Given the description of an element on the screen output the (x, y) to click on. 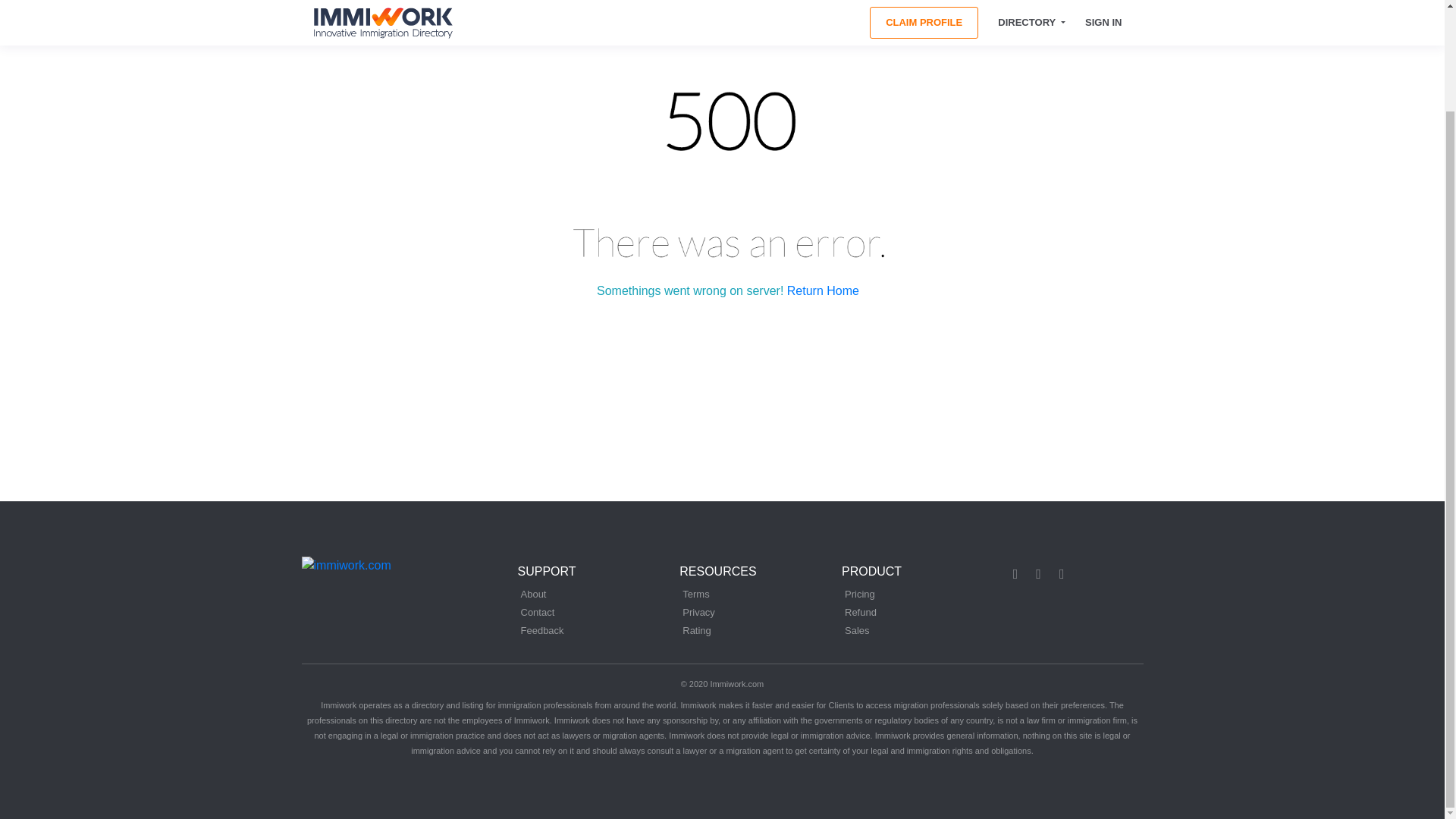
Terms (695, 594)
Feedback (541, 630)
Return Home (823, 291)
Privacy (698, 612)
Pricing (859, 594)
About (532, 594)
Sales (856, 630)
Rating (696, 630)
Refund (860, 612)
Contact (536, 612)
